Given the description of an element on the screen output the (x, y) to click on. 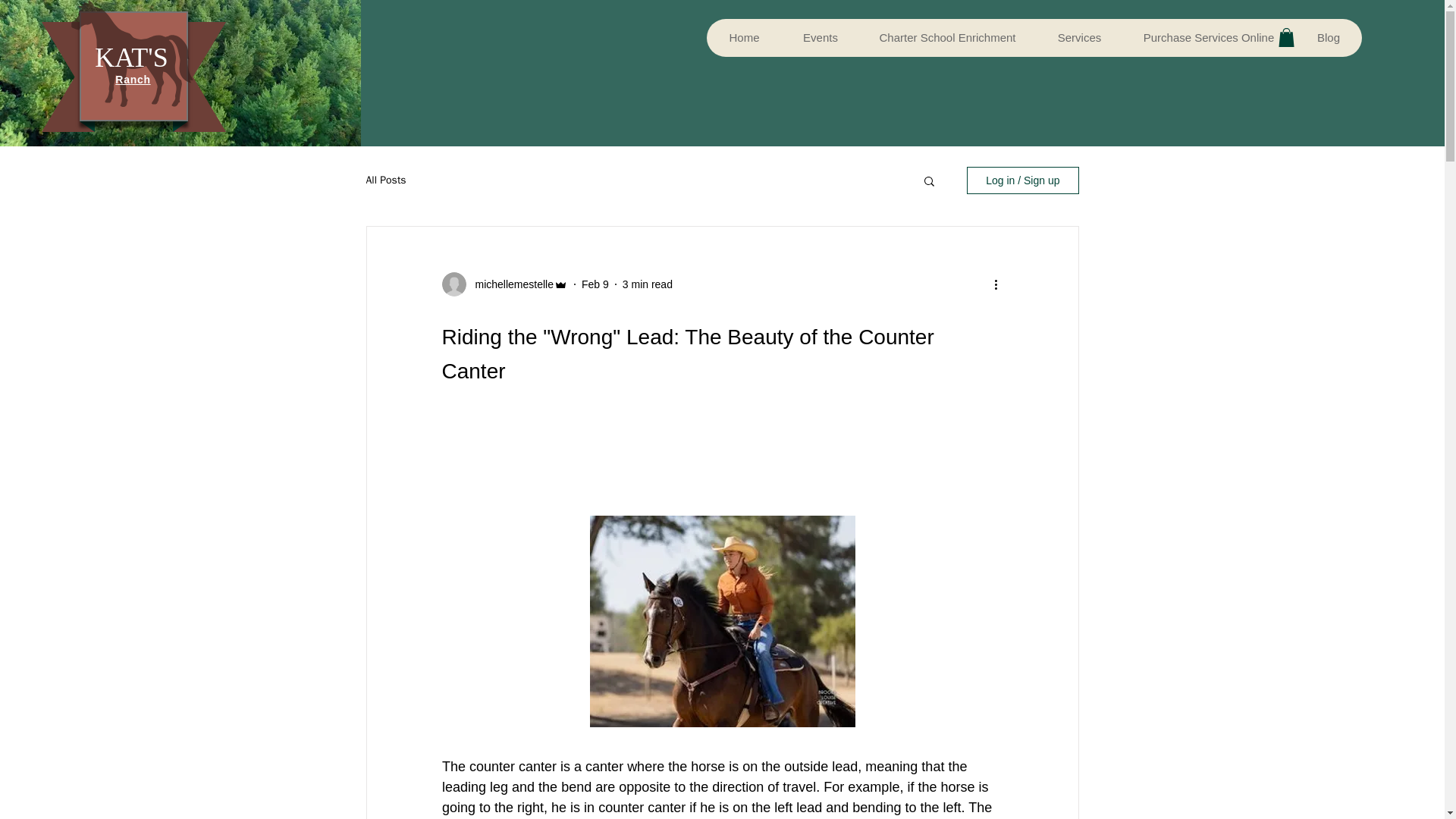
Blog (1327, 37)
KAT'S (131, 57)
Feb 9 (594, 283)
michellemestelle (509, 283)
All Posts (385, 180)
Ranch (132, 79)
Charter School Enrichment (947, 37)
Events (820, 37)
Services (1078, 37)
3 min read (647, 283)
Home (743, 37)
Purchase Services Online (1208, 37)
